Given the description of an element on the screen output the (x, y) to click on. 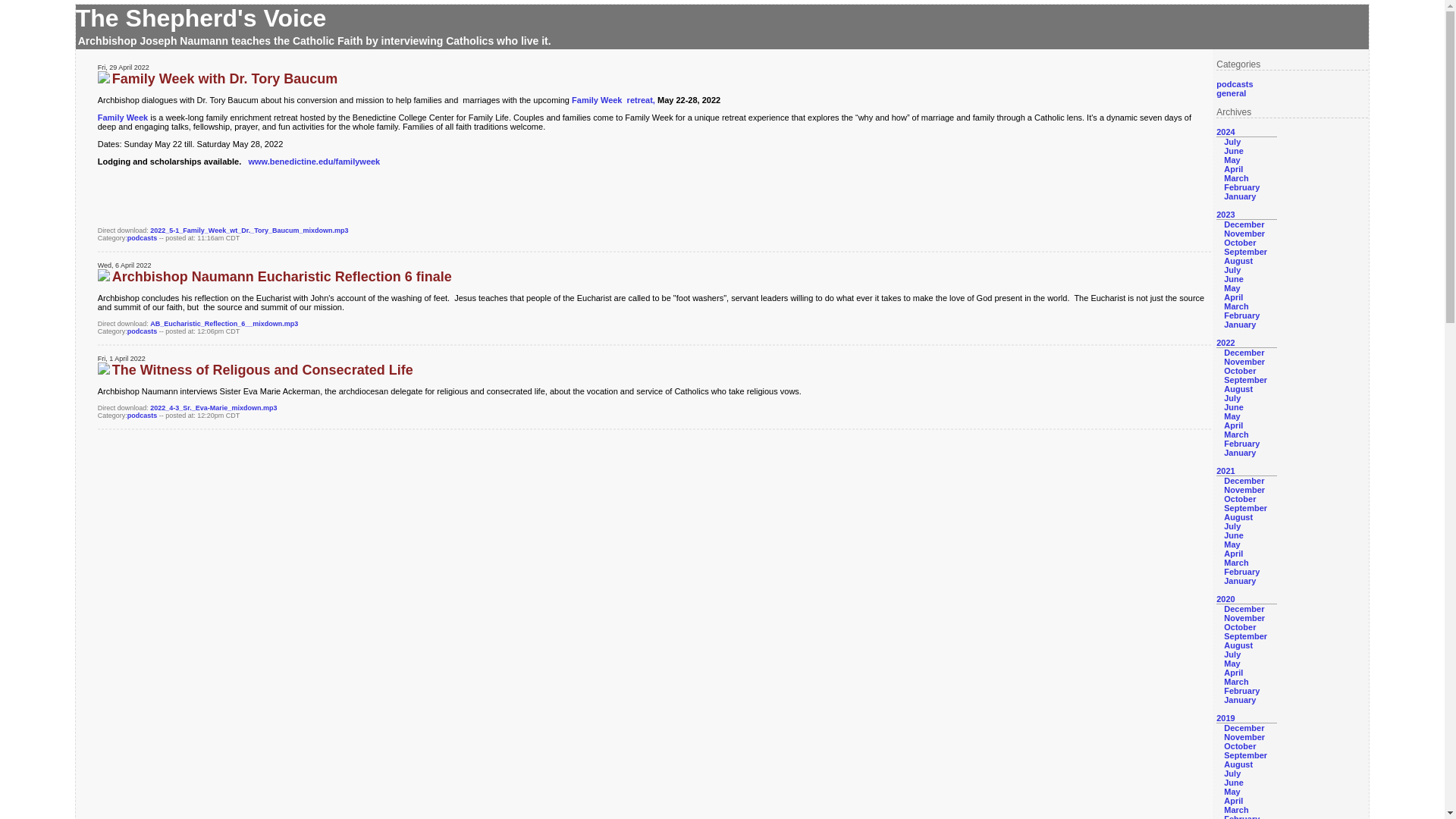
June (1233, 150)
May (1232, 159)
May (1232, 415)
September (1245, 251)
March (1235, 177)
December (1243, 480)
August (1238, 260)
February (1241, 315)
June (1233, 278)
October (1239, 370)
April (1233, 168)
February (1241, 442)
January (1239, 324)
November (1244, 489)
July (1232, 397)
